Given the description of an element on the screen output the (x, y) to click on. 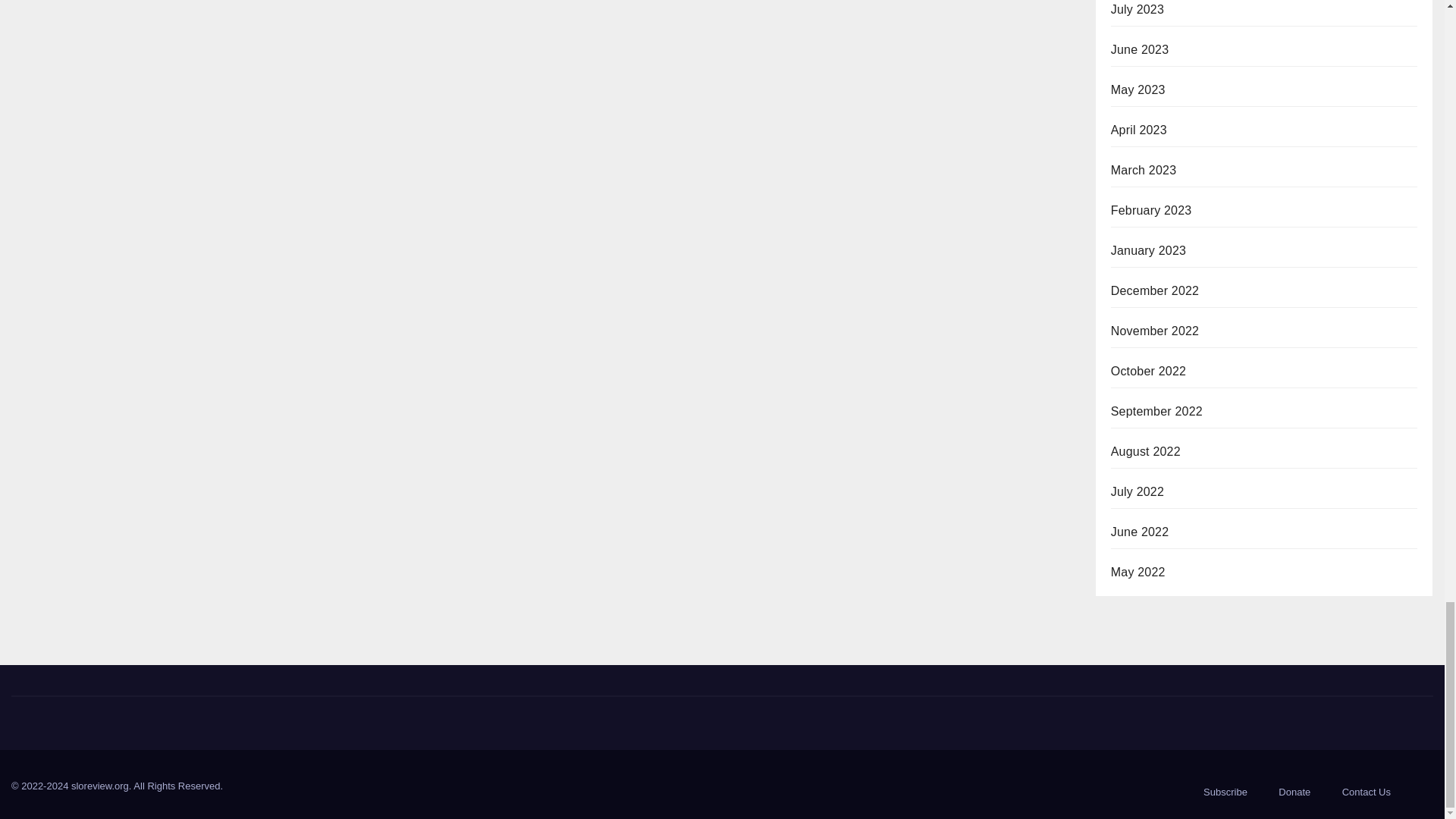
Subscribe (1225, 791)
Contact Us (1366, 791)
Donate (1294, 791)
